Given the description of an element on the screen output the (x, y) to click on. 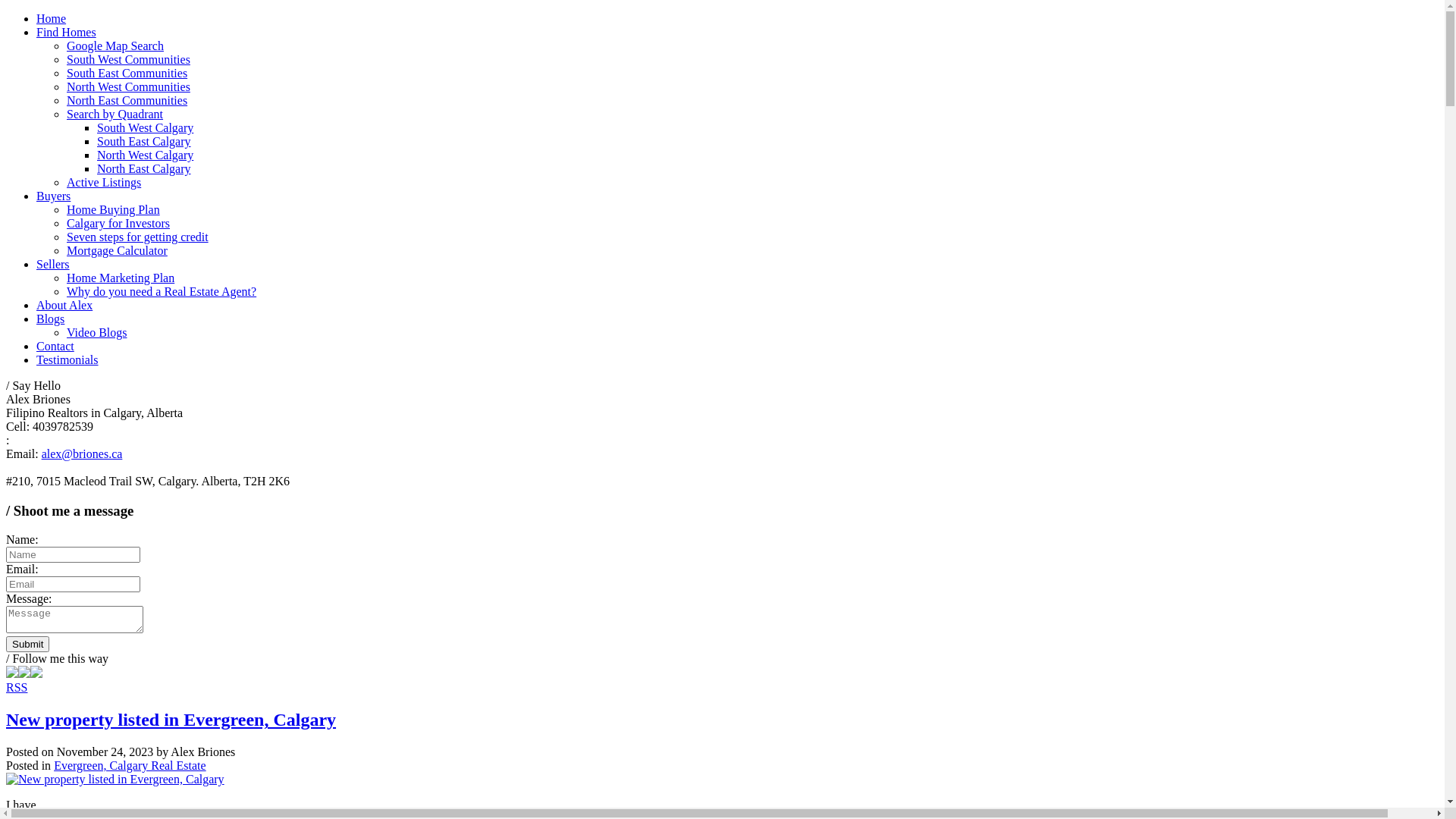
Testimonials Element type: text (67, 359)
Video Blogs Element type: text (96, 332)
North East Calgary Element type: text (144, 168)
alex@briones.ca Element type: text (81, 453)
New property listed in Evergreen, Calgary Element type: text (170, 719)
Evergreen, Calgary Real Estate Element type: text (129, 765)
South East Calgary Element type: text (144, 140)
Home Marketing Plan Element type: text (120, 277)
Active Listings Element type: text (103, 181)
Read full post Element type: hover (722, 779)
North East Communities Element type: text (126, 100)
South West Calgary Element type: text (145, 127)
Contact Element type: text (55, 345)
North West Calgary Element type: text (145, 154)
Find Homes Element type: text (66, 31)
North West Communities Element type: text (128, 86)
Google Map Search Element type: text (114, 45)
Buyers Element type: text (53, 195)
South East Communities Element type: text (126, 72)
Home Buying Plan Element type: text (113, 209)
Mortgage Calculator Element type: text (116, 250)
Seven steps for getting credit Element type: text (137, 236)
Calgary for Investors Element type: text (117, 222)
Sellers Element type: text (52, 263)
RSS Element type: text (16, 686)
Search by Quadrant Element type: text (114, 113)
Blogs Element type: text (50, 318)
About Alex Element type: text (64, 304)
Why do you need a Real Estate Agent? Element type: text (161, 291)
South West Communities Element type: text (128, 59)
Submit Element type: text (27, 644)
Home Element type: text (50, 18)
